Given the description of an element on the screen output the (x, y) to click on. 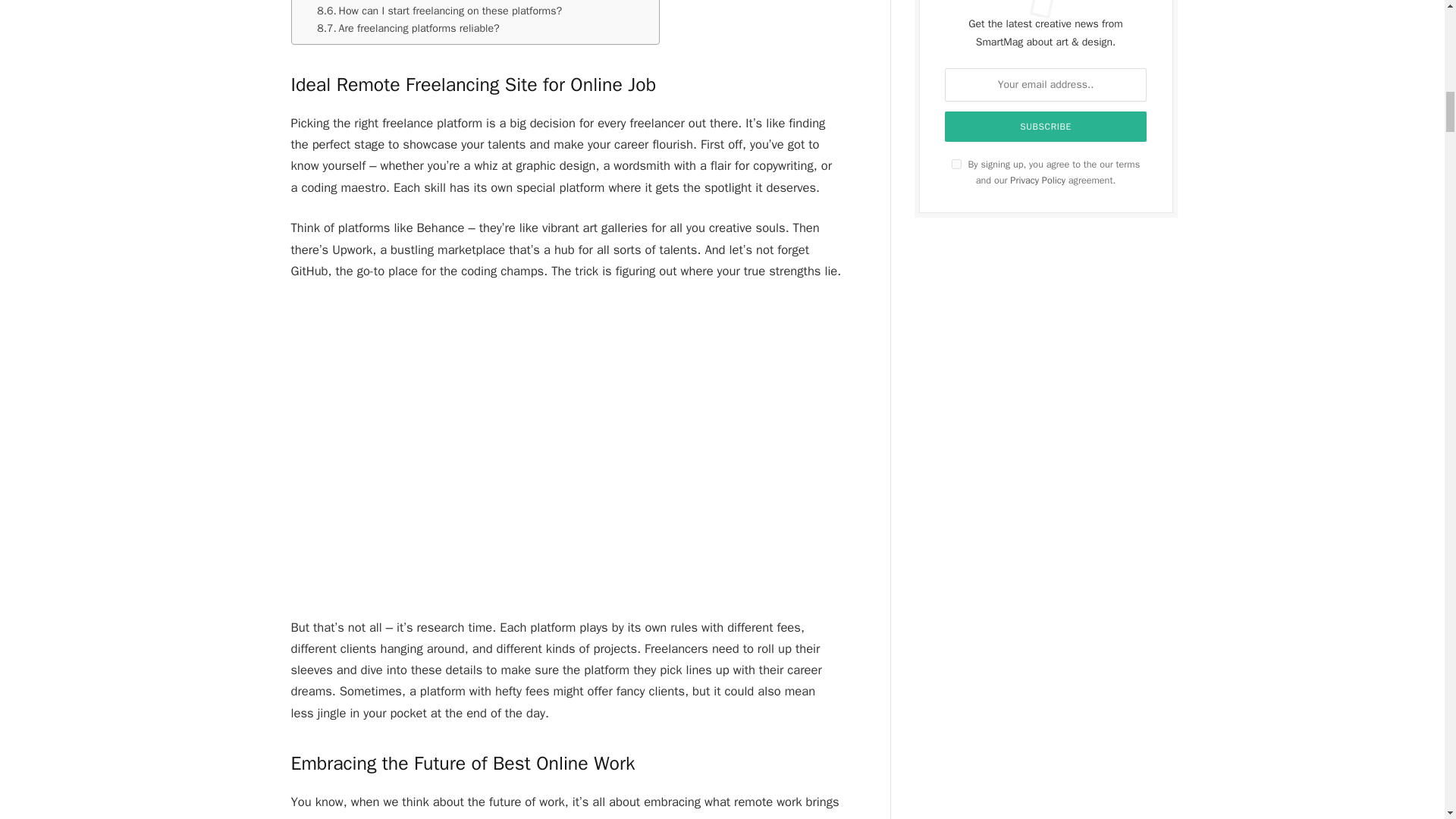
on (956, 163)
Subscribe (1045, 126)
